Given the description of an element on the screen output the (x, y) to click on. 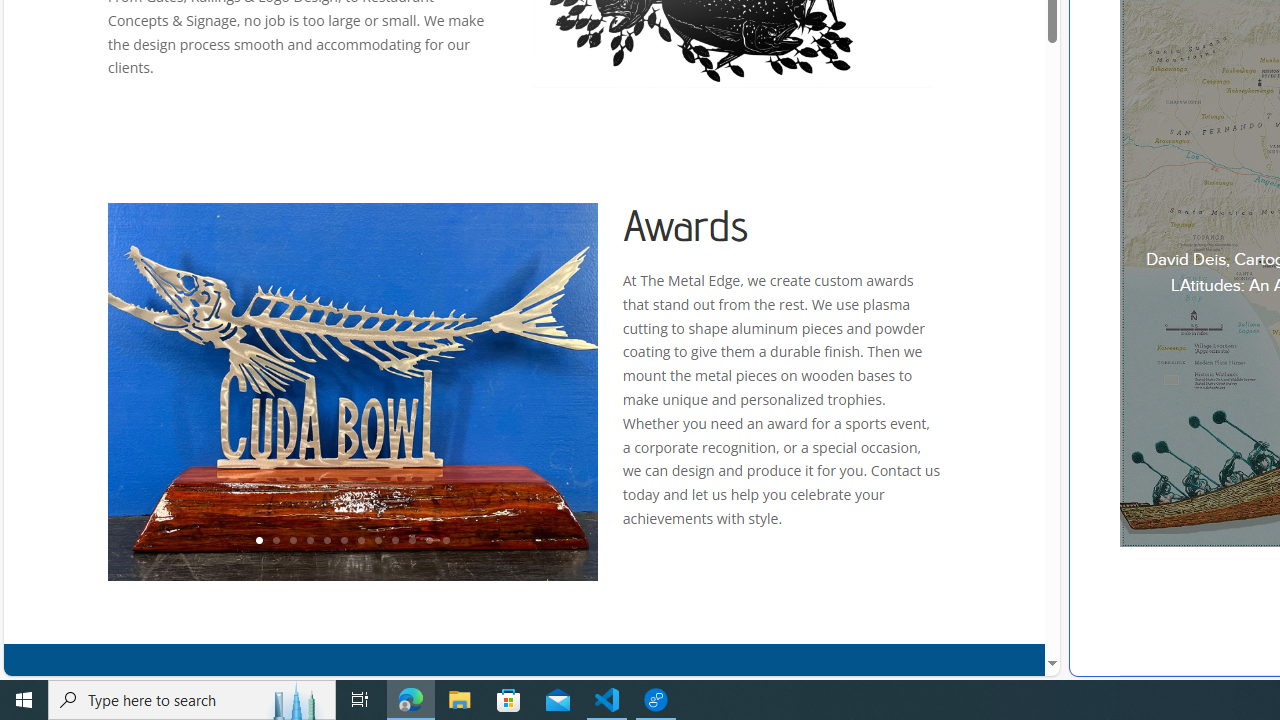
10 (412, 541)
9 (394, 541)
1 (258, 541)
12 (445, 541)
2 (275, 541)
7 (360, 541)
5 (326, 541)
3 (292, 541)
4 (309, 541)
8 (377, 541)
11 (428, 541)
6 (344, 541)
